Given the description of an element on the screen output the (x, y) to click on. 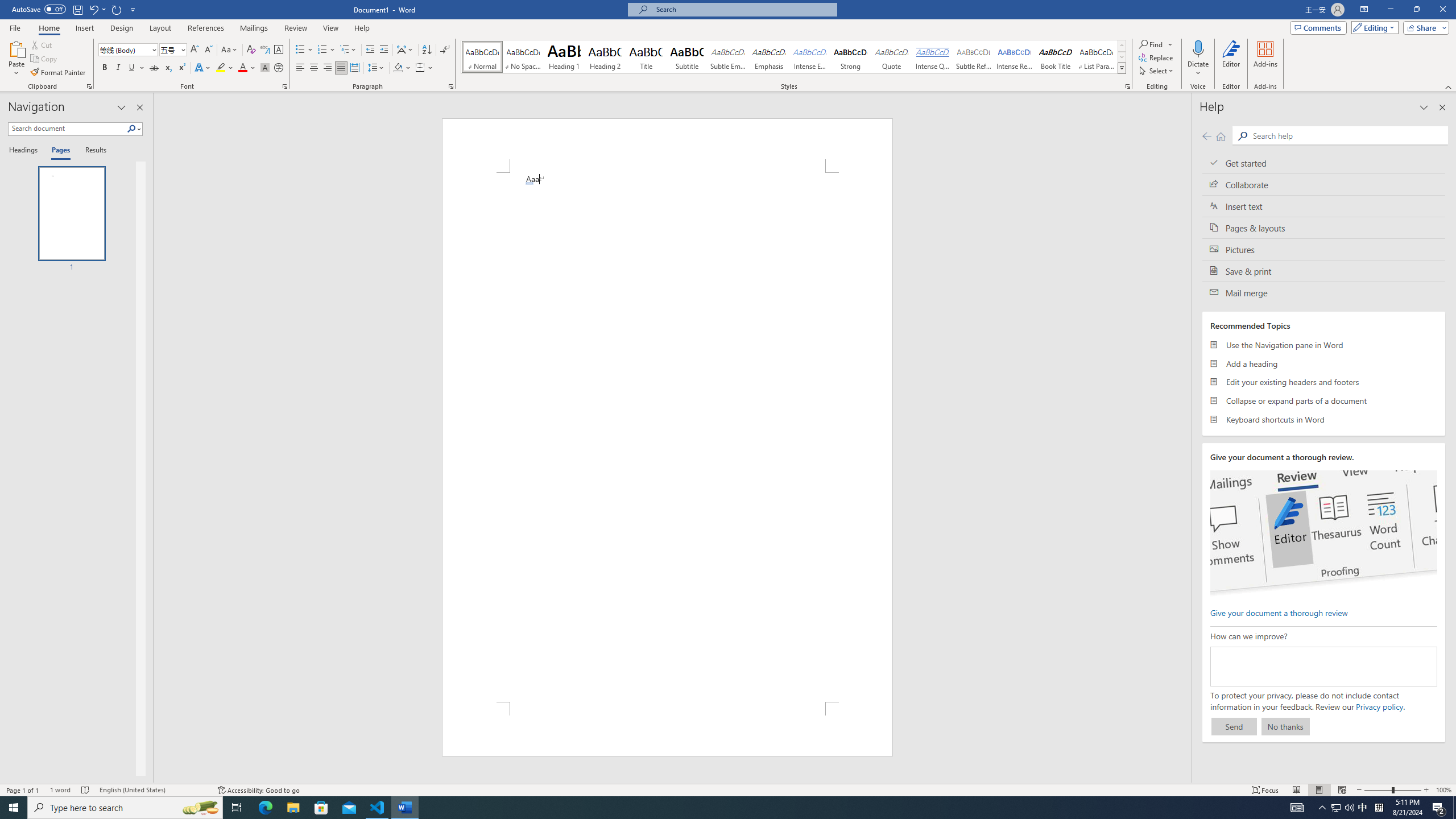
Heading 2 (605, 56)
Decrease Indent (370, 49)
Book Title (1055, 56)
Insert (83, 28)
Previous page (1206, 136)
Collapse the Ribbon (1448, 86)
Align Right (327, 67)
Font Color (246, 67)
Grow Font (193, 49)
Get started (1323, 162)
Search (131, 128)
Class: NetUIImage (1121, 68)
Bold (104, 67)
Font Size (172, 49)
